Given the description of an element on the screen output the (x, y) to click on. 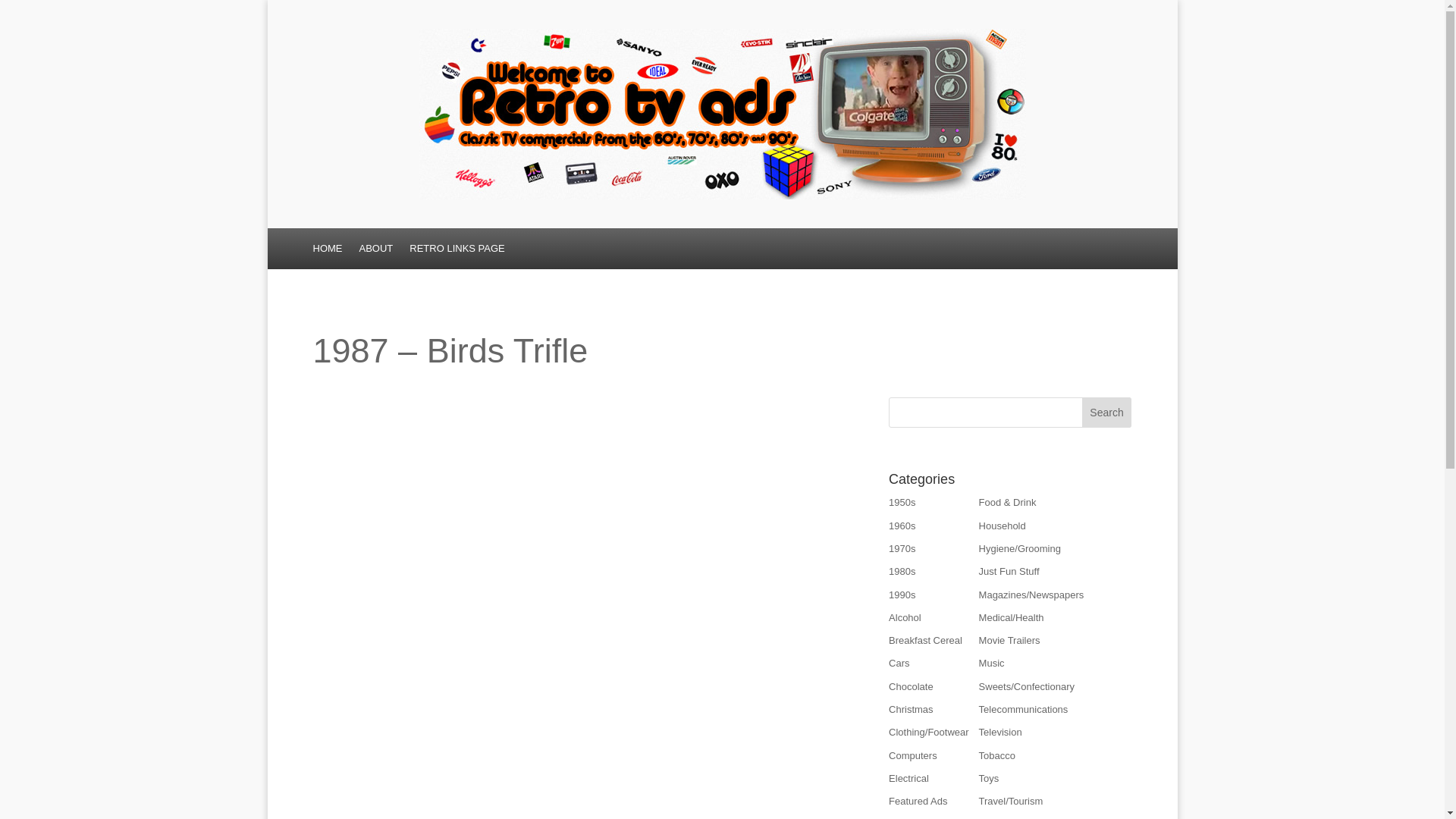
Household (1002, 525)
1980s (901, 571)
Tobacco (996, 755)
Some tv adverts of electrical items being sold in the 80's (908, 778)
Featured Ads (917, 800)
Toys (988, 778)
Christmas (910, 708)
1990s (901, 594)
ABOUT (376, 251)
Just Fun Stuff (1008, 571)
1970s (901, 548)
Television (1000, 731)
Movie Trailers (1009, 640)
Computers (912, 755)
Music (991, 663)
